Given the description of an element on the screen output the (x, y) to click on. 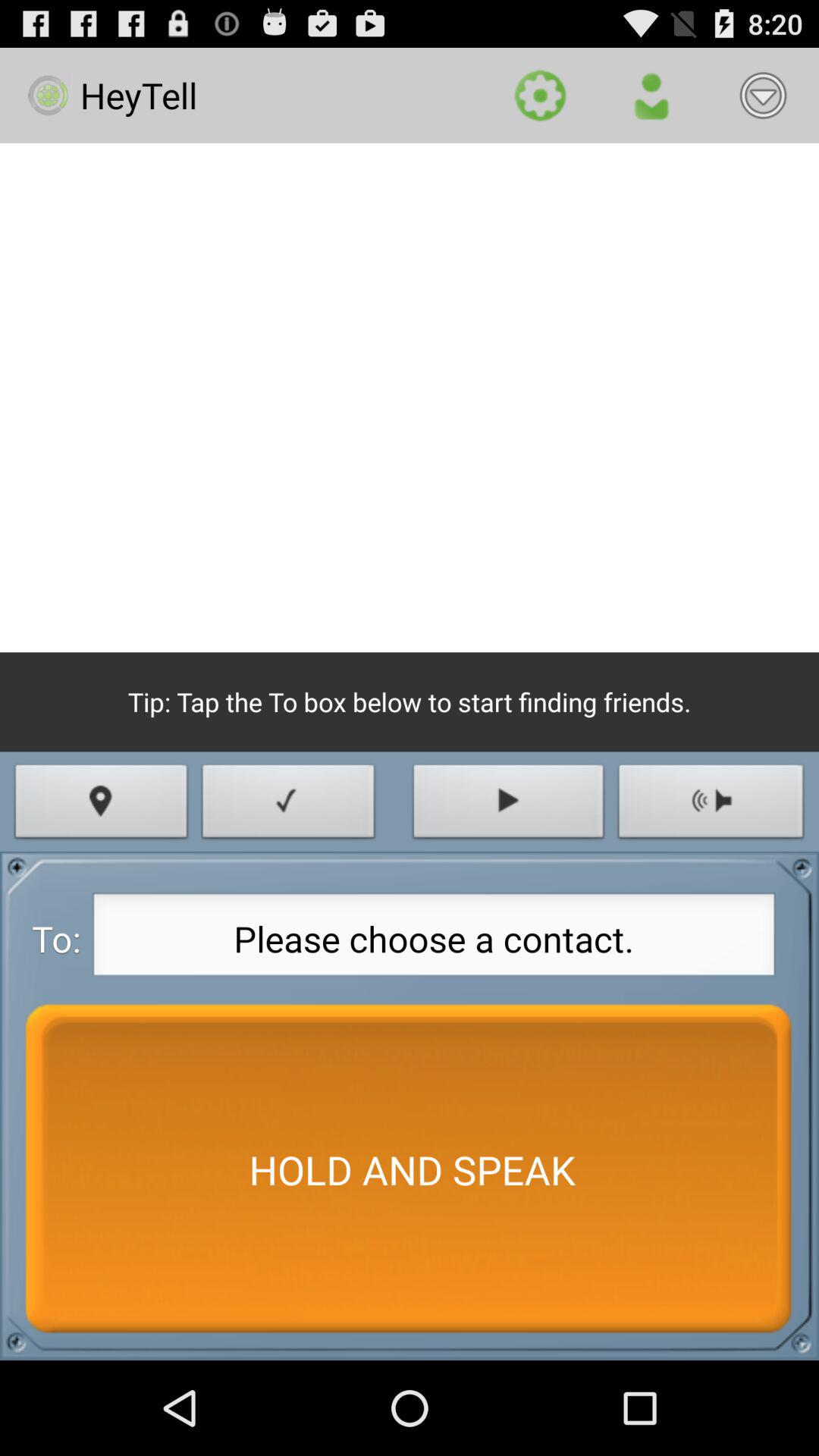
select item above please choose a app (508, 805)
